Given the description of an element on the screen output the (x, y) to click on. 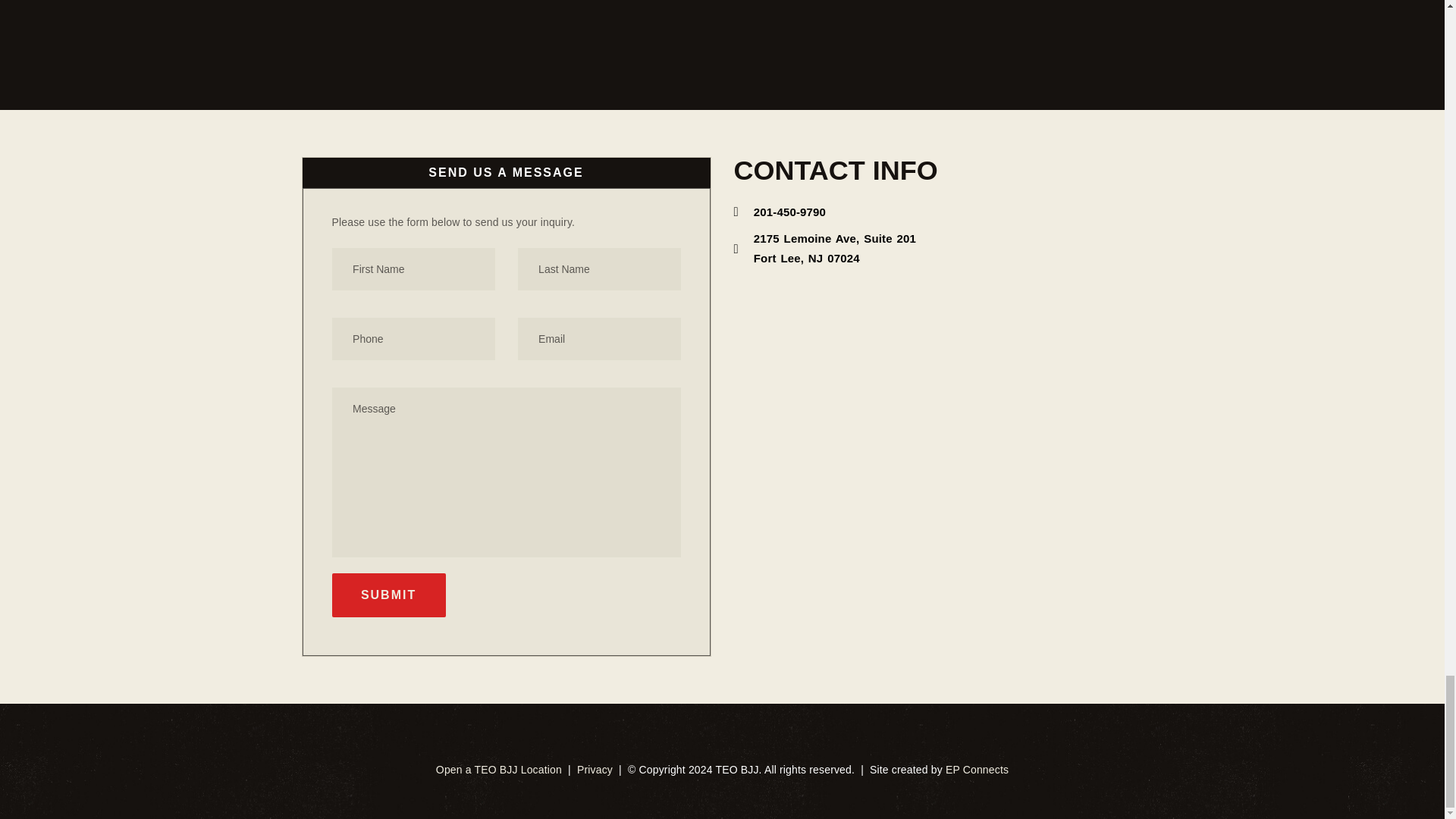
submit (388, 594)
